Given the description of an element on the screen output the (x, y) to click on. 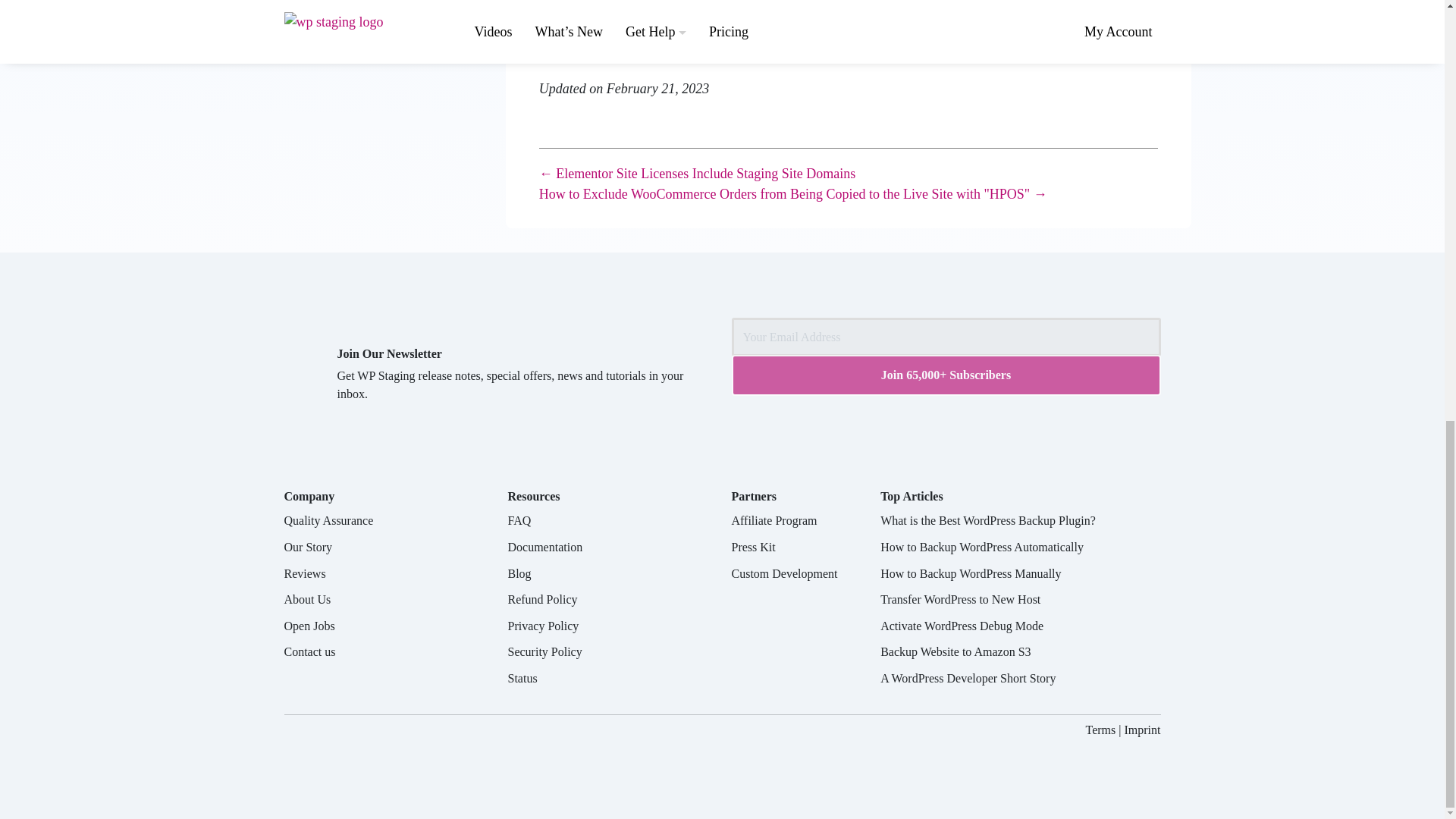
How to Increase the Maximum Upload File Size in WordPress (705, 23)
Open Jobs (308, 625)
3 Ways to Change the WordPress Database Table Prefix (689, 57)
About Us (306, 599)
How to Increase PHP Max Input Vars Limit in WordPress (694, 6)
Reviews (303, 573)
How to Change WordPress Table Prefix of mySQL Database (701, 40)
Our Story (307, 546)
Quality Assurance (327, 520)
